Given the description of an element on the screen output the (x, y) to click on. 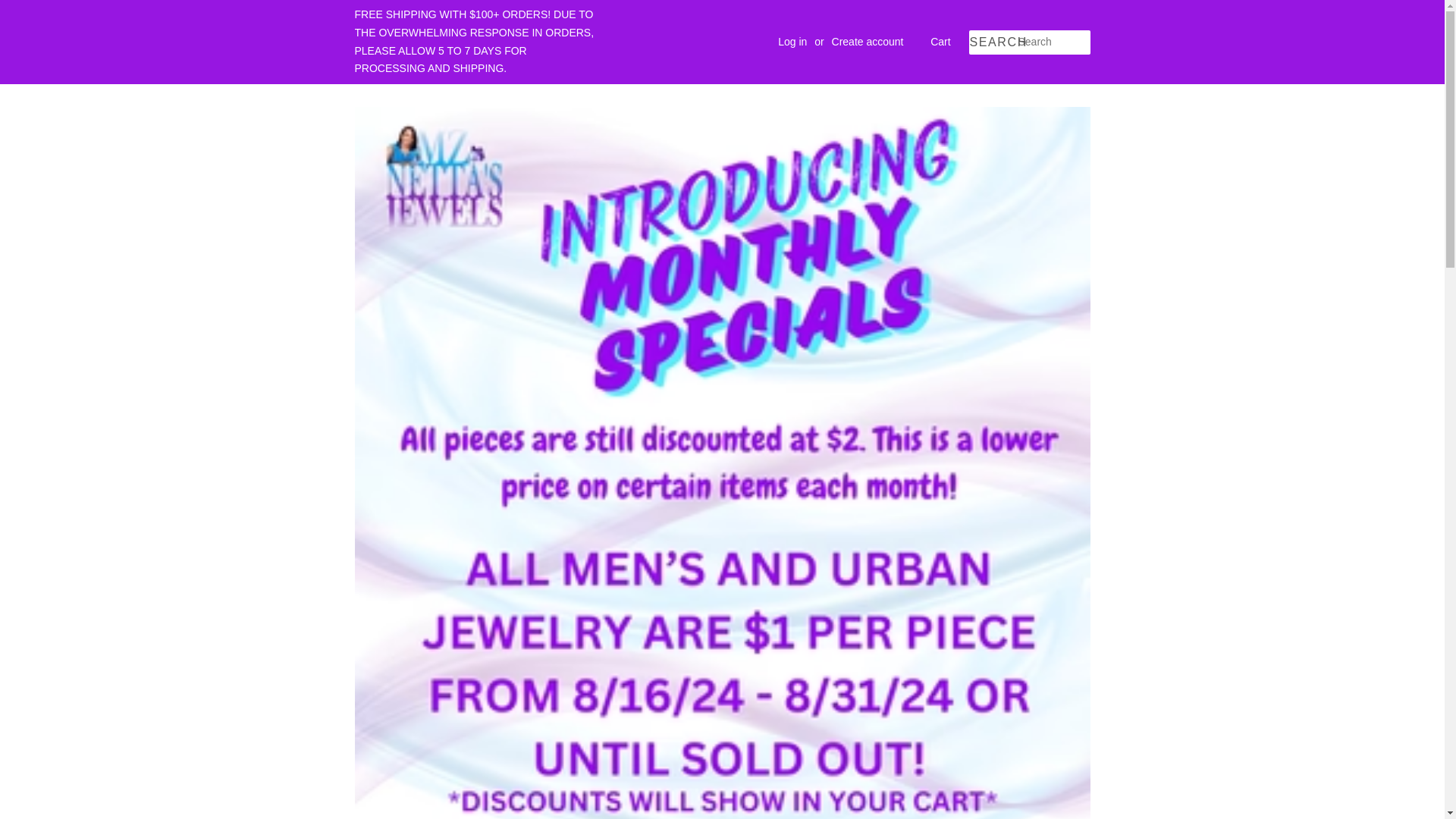
Cart (940, 42)
Log in (791, 41)
SEARCH (993, 42)
Create account (867, 41)
